Given the description of an element on the screen output the (x, y) to click on. 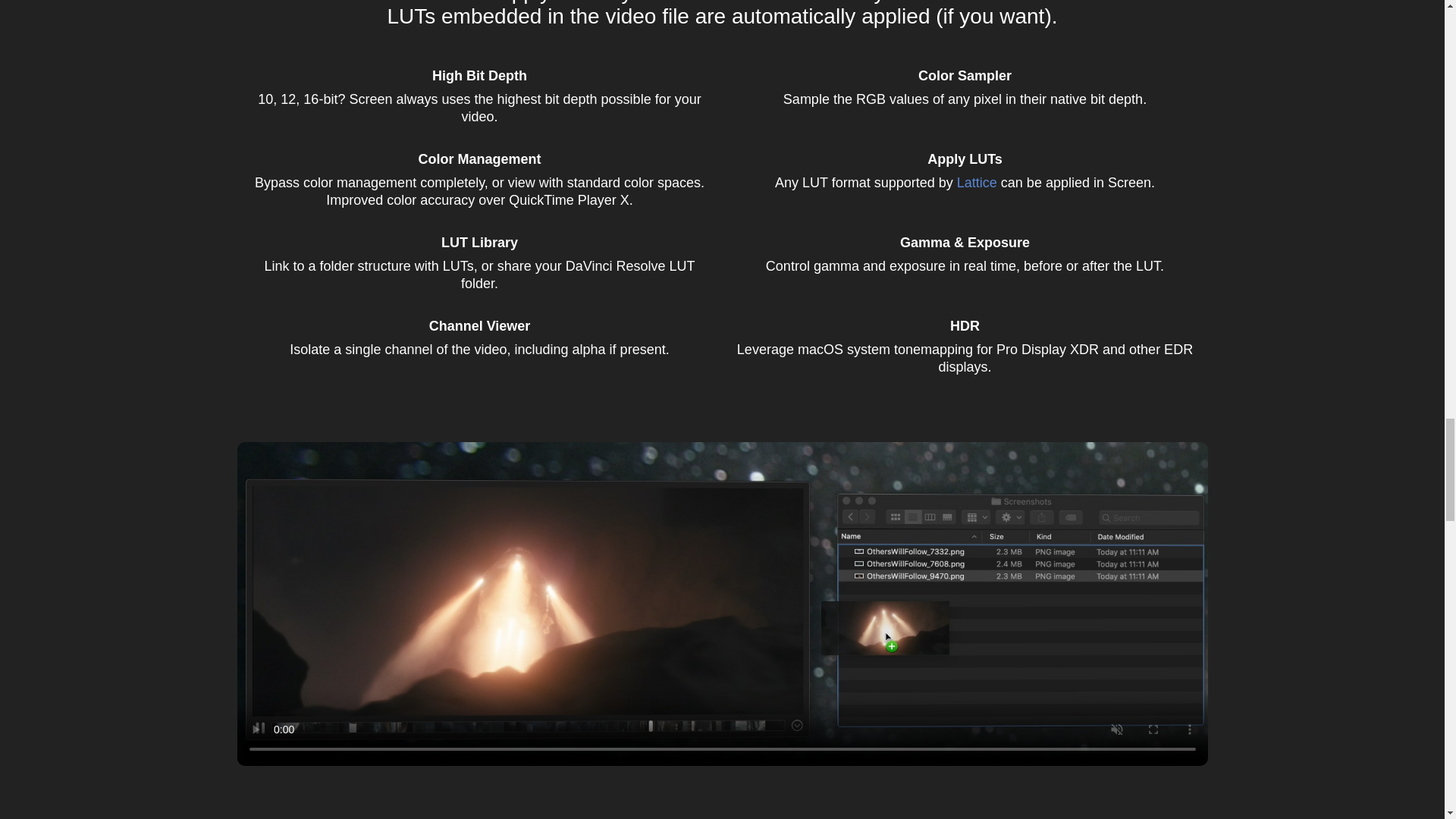
Lattice (976, 182)
